Given the description of an element on the screen output the (x, y) to click on. 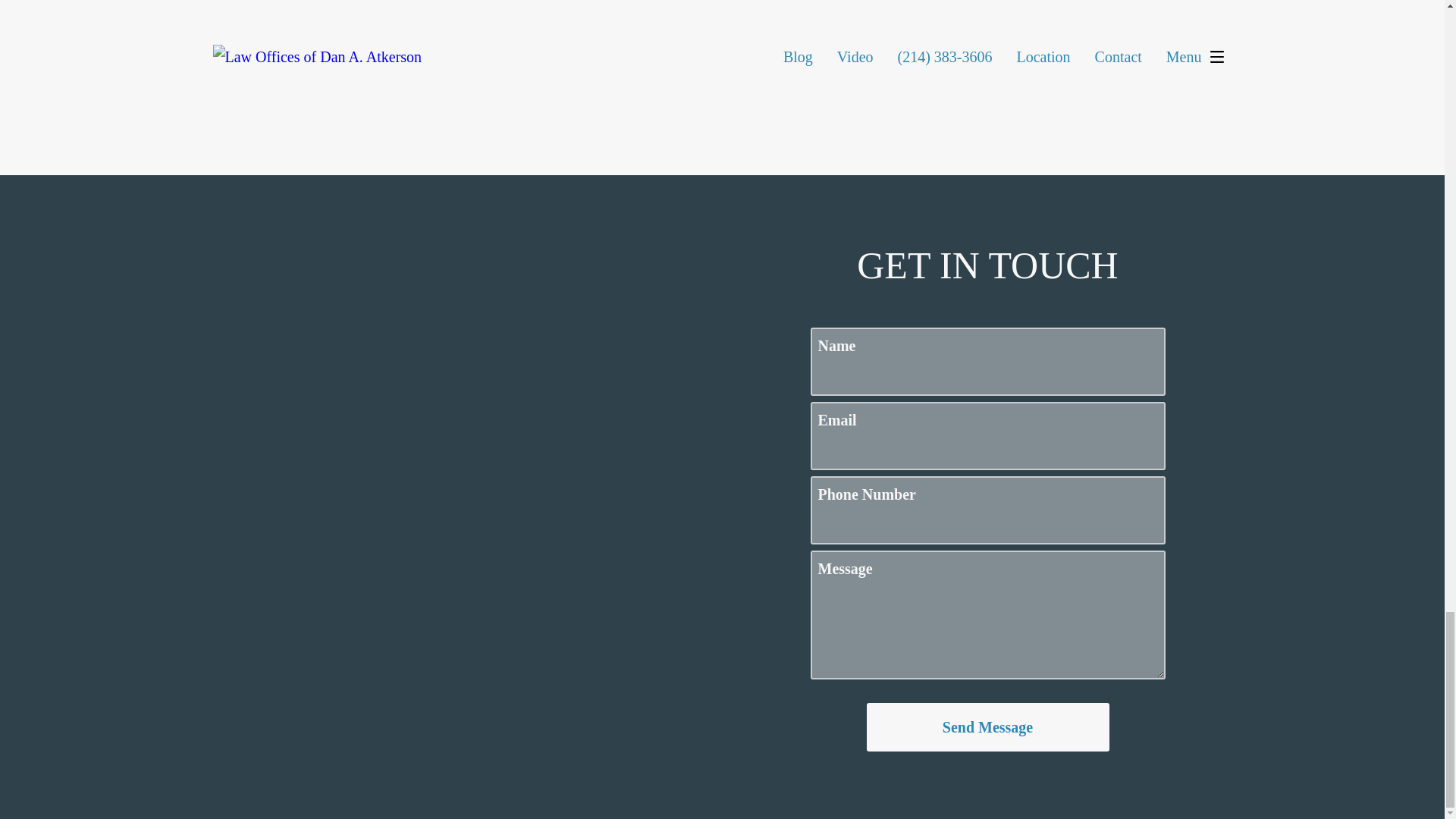
request an appointment (821, 95)
significant verdicts and settlements (762, 83)
Send Message (987, 726)
